Given the description of an element on the screen output the (x, y) to click on. 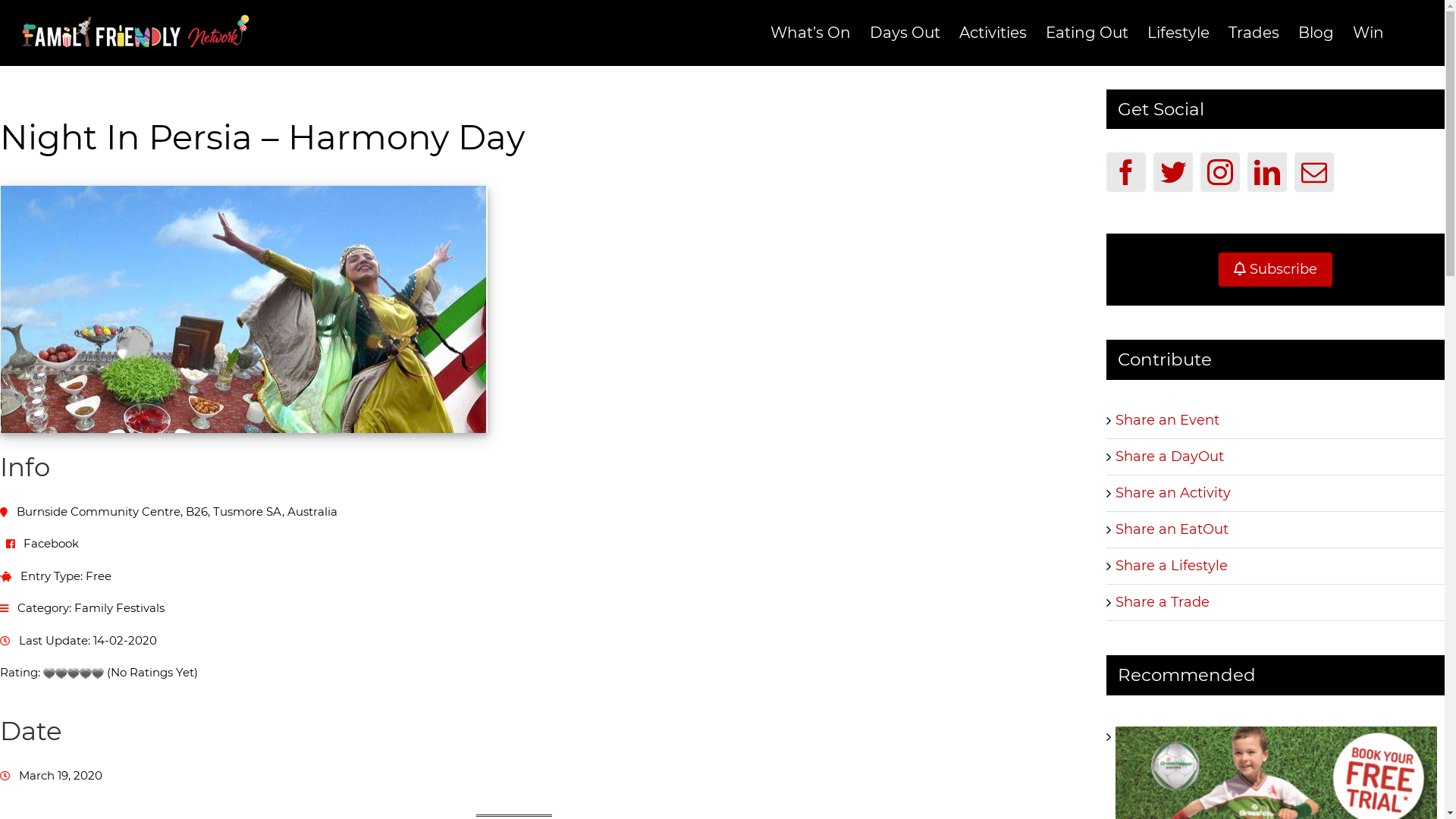
Share an EatOut Element type: text (1171, 528)
Instagram Element type: text (735, 793)
Mail Element type: hover (1313, 171)
Contact us Element type: text (1077, 552)
Phonix IT Solutions Element type: text (925, 763)
Facebook Element type: hover (1125, 171)
Legalities Element type: text (731, 552)
Share an Event Element type: text (1167, 419)
Subscribe Element type: text (1275, 268)
Home Element type: text (353, 552)
Days Out Element type: text (904, 32)
Twitter Element type: text (708, 793)
Instagram Element type: hover (1219, 171)
Advertise With Us Element type: text (543, 552)
Twitter Element type: hover (1172, 171)
Facebook Element type: text (680, 793)
LinkedIn Element type: text (762, 793)
Share a Lifestyle Element type: text (1171, 565)
Terms & Conditions Element type: text (958, 552)
Trades Element type: text (1253, 32)
Subscribe Element type: text (1275, 269)
Facebook Element type: text (50, 543)
Blog Element type: text (1315, 32)
About Us Element type: text (432, 552)
LinkedIn Element type: hover (1266, 171)
Lifestyle Element type: text (1178, 32)
Eating Out Element type: text (1086, 32)
Win Element type: text (1367, 32)
Share a DayOut Element type: text (1169, 456)
Activities Element type: text (992, 32)
Privacy Policy Element type: text (832, 552)
Share a Trade Element type: text (1162, 601)
Share an Activity Element type: text (1172, 492)
Join Us Element type: text (649, 552)
